Given the description of an element on the screen output the (x, y) to click on. 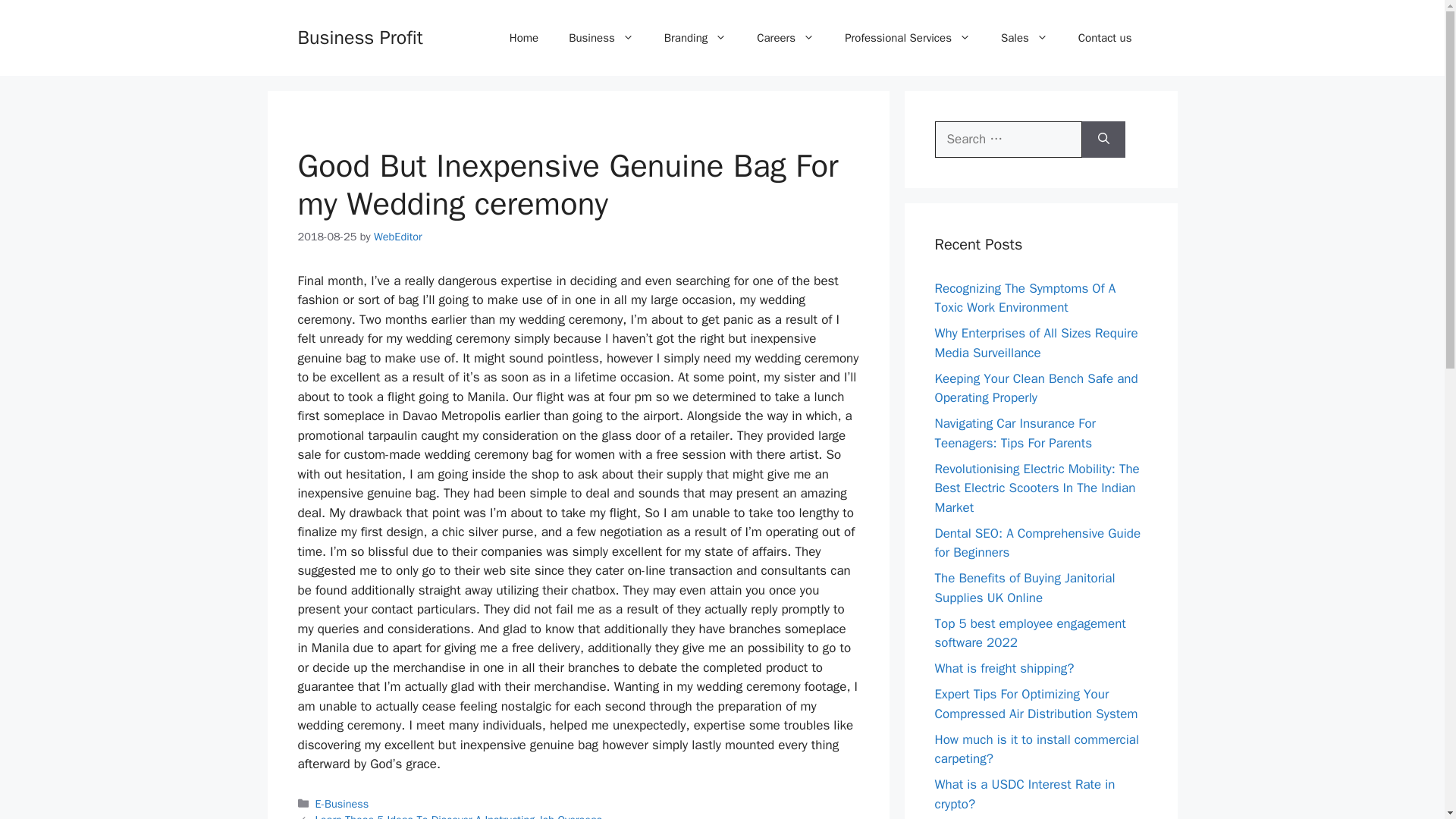
Navigating Car Insurance For Teenagers: Tips For Parents (1015, 433)
Sales (1023, 37)
Business Profit (359, 37)
Search for: (1007, 139)
Keeping Your Clean Bench Safe and Operating Properly (1035, 387)
Dental SEO: A Comprehensive Guide for Beginners (1037, 542)
Branding (695, 37)
WebEditor (398, 236)
E-Business (342, 803)
Recognizing The Symptoms Of A Toxic Work Environment (1024, 298)
Business (601, 37)
View all posts by WebEditor (398, 236)
Contact us (1104, 37)
Home (524, 37)
